Given the description of an element on the screen output the (x, y) to click on. 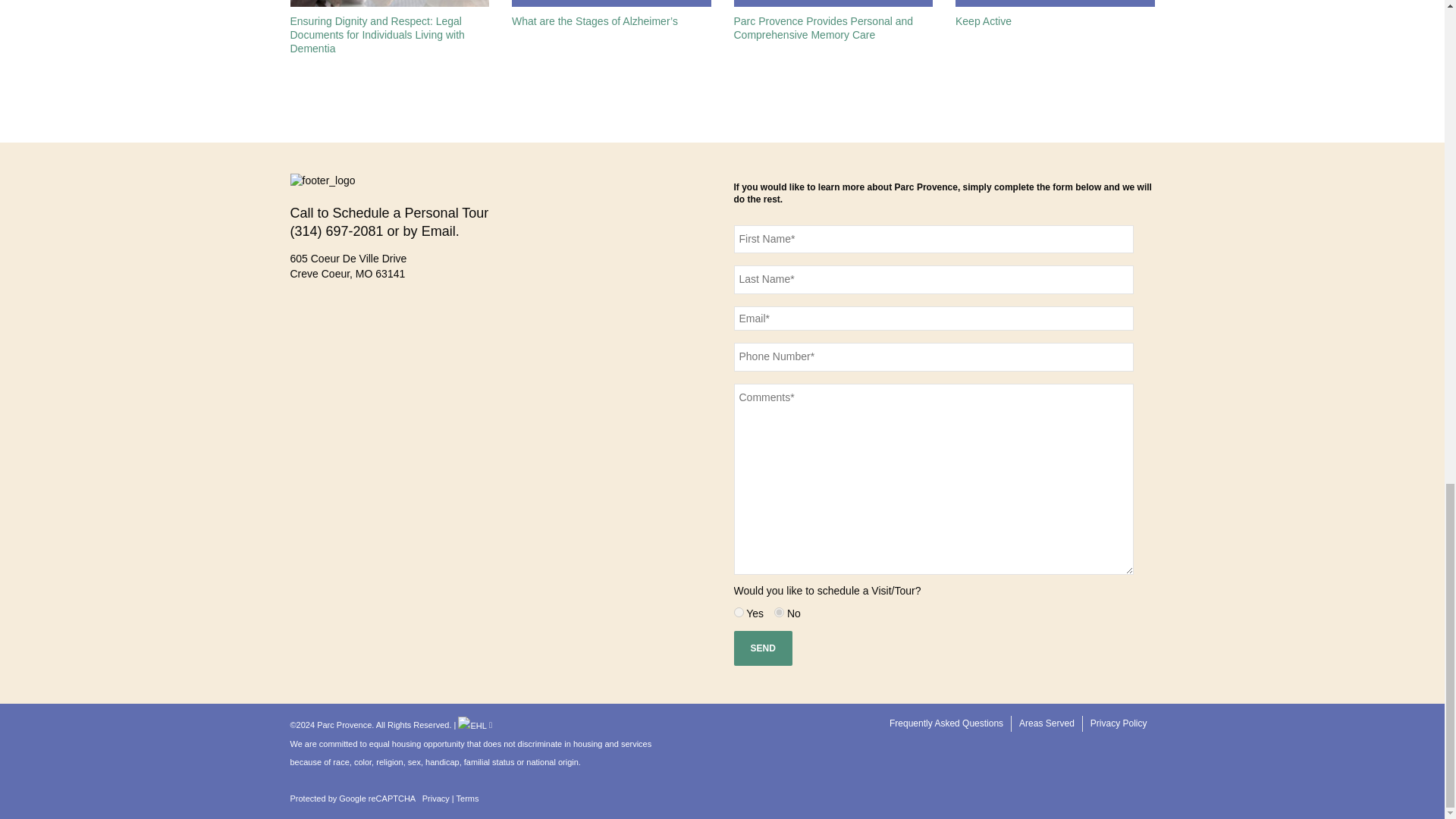
Yes (738, 612)
Permanent Link to Keep Active (983, 21)
No (779, 612)
SEND (762, 647)
